Given the description of an element on the screen output the (x, y) to click on. 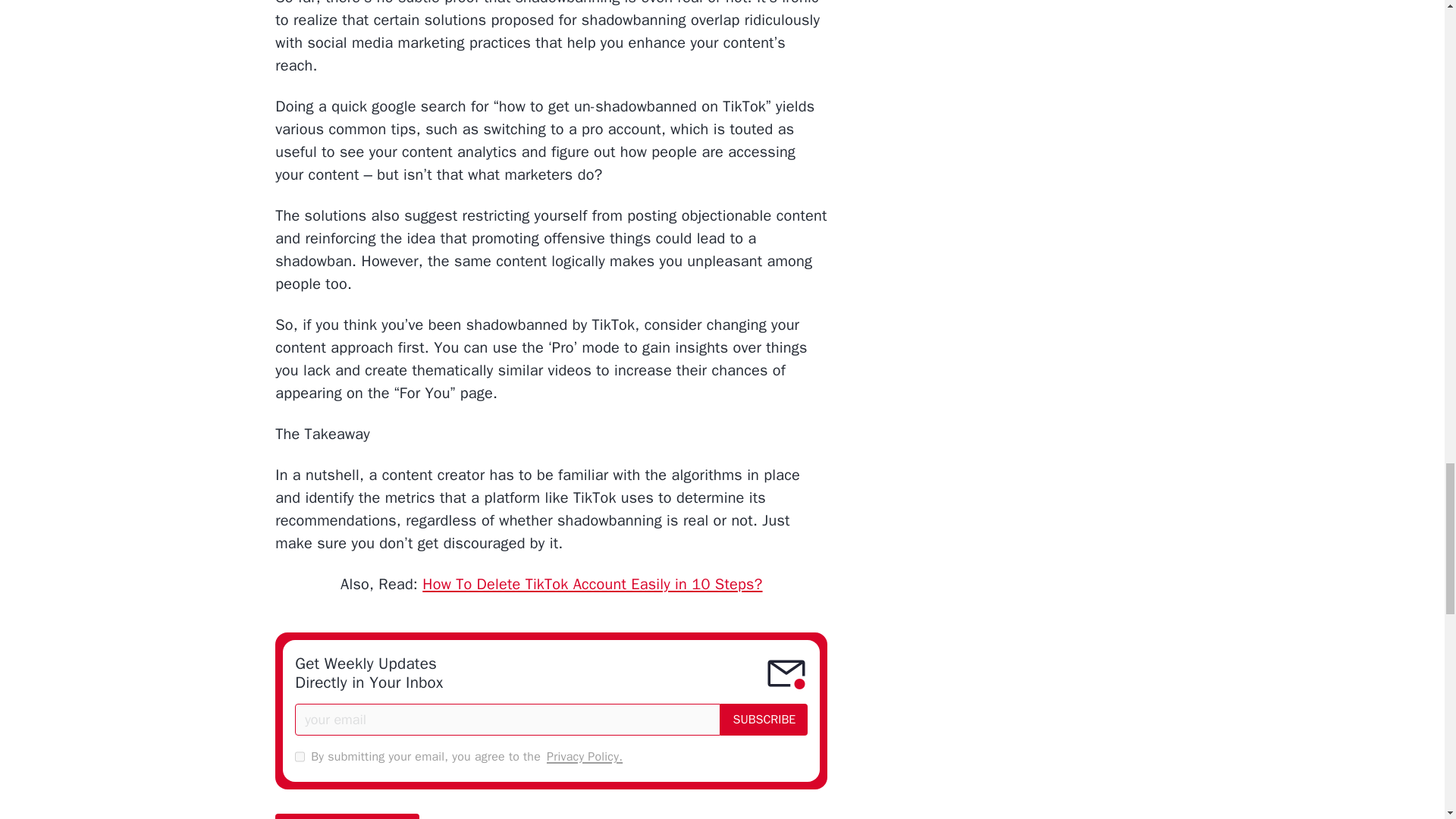
Privacy Policy. (585, 756)
Leave a Comment (347, 816)
How To Delete TikTok Account Easily in 10 Steps? (591, 583)
SUBSCRIBE (764, 719)
